Given the description of an element on the screen output the (x, y) to click on. 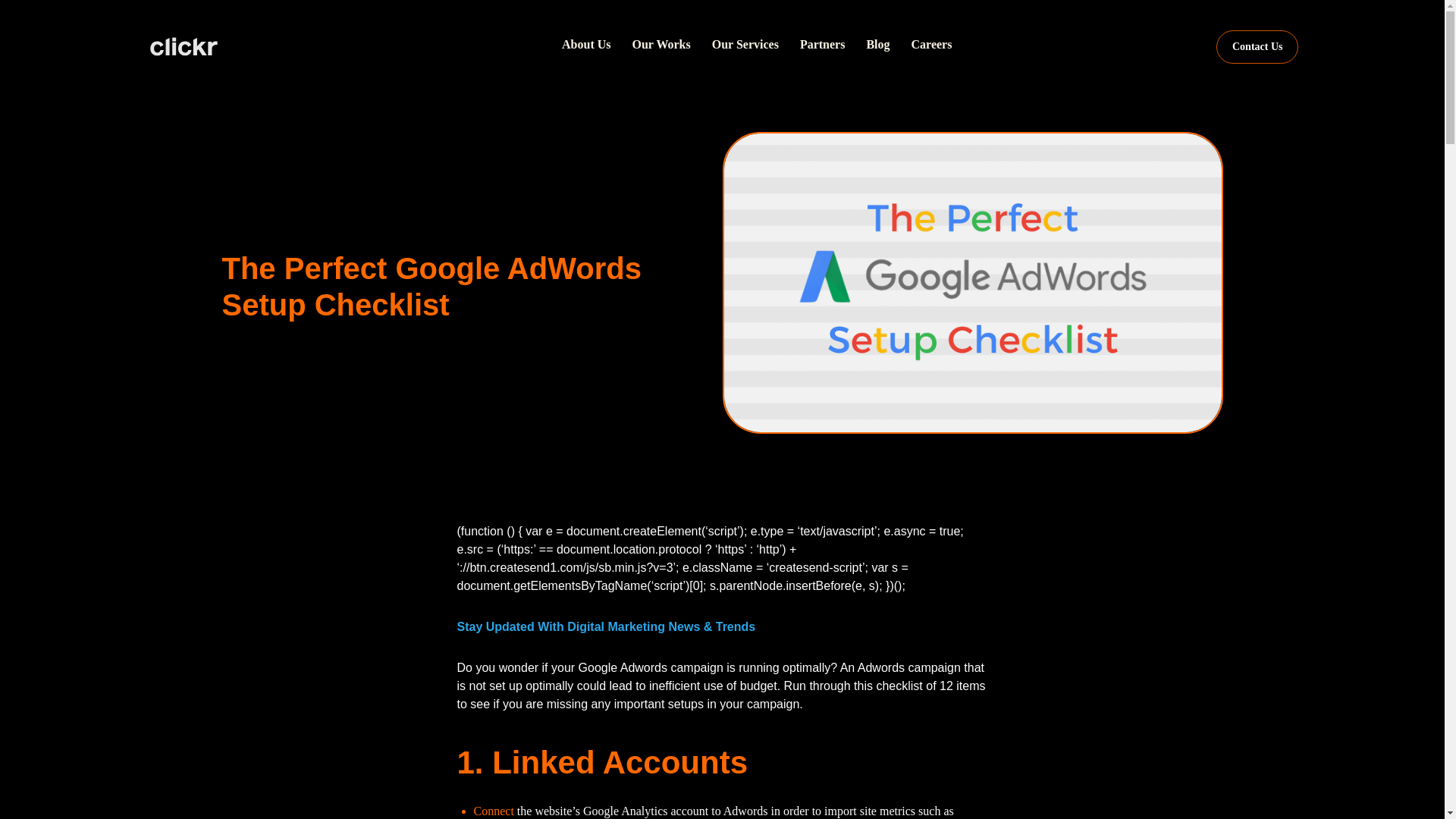
Partners (822, 44)
Contact Us (1256, 46)
Careers (931, 44)
About Us (585, 44)
Our Services (745, 44)
Connect (493, 810)
Our Works (661, 44)
Blog (877, 44)
